Given the description of an element on the screen output the (x, y) to click on. 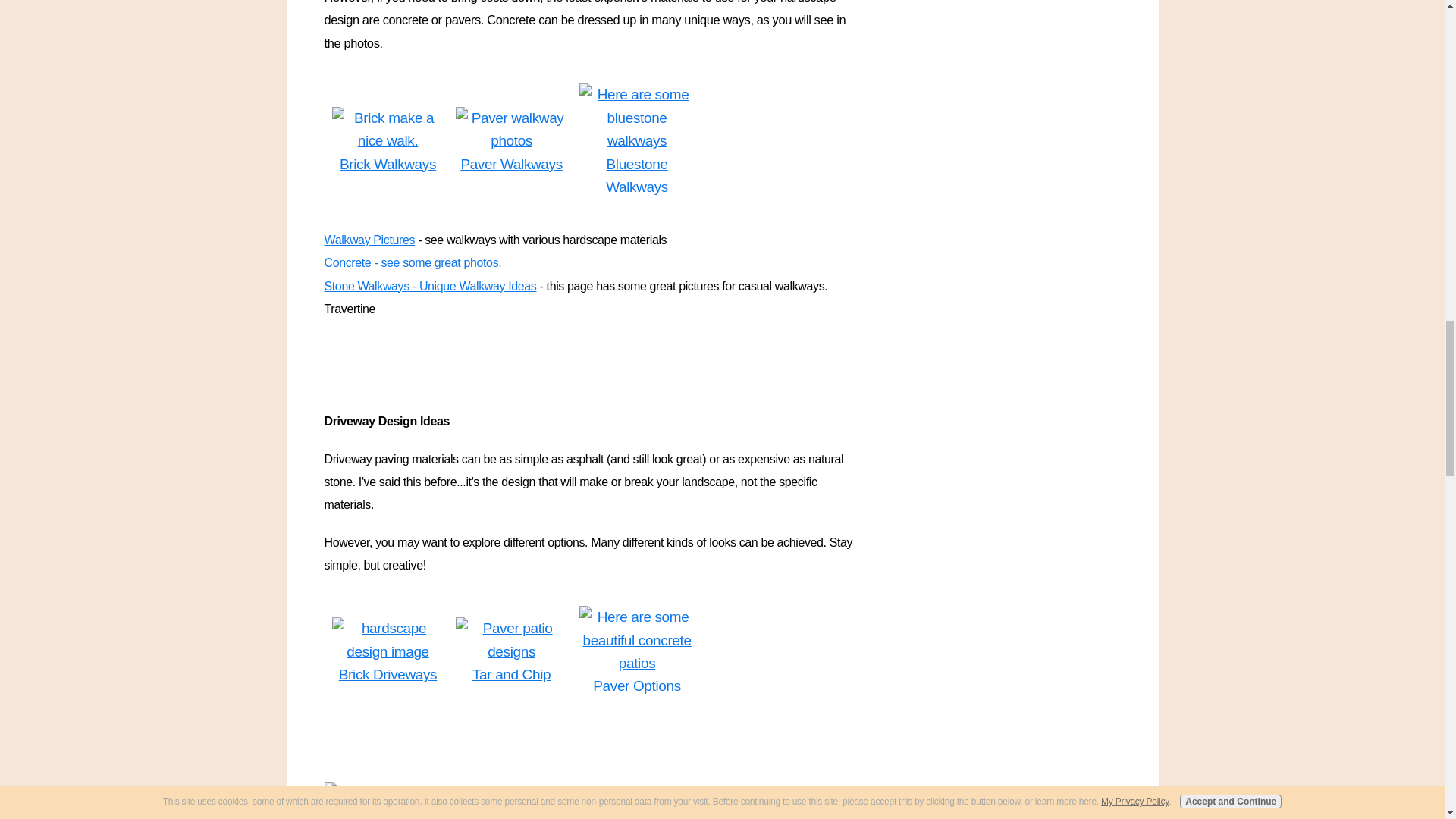
go to the concrete patio page (637, 640)
A fountain near a lovely hardscape wall (449, 793)
go to patio pictures (387, 640)
see some great paver walkway pictures pictures (511, 130)
see some great paver patio pictures (511, 640)
go to bluestone walkways (637, 117)
brick walkway pictures (387, 130)
